Given the description of an element on the screen output the (x, y) to click on. 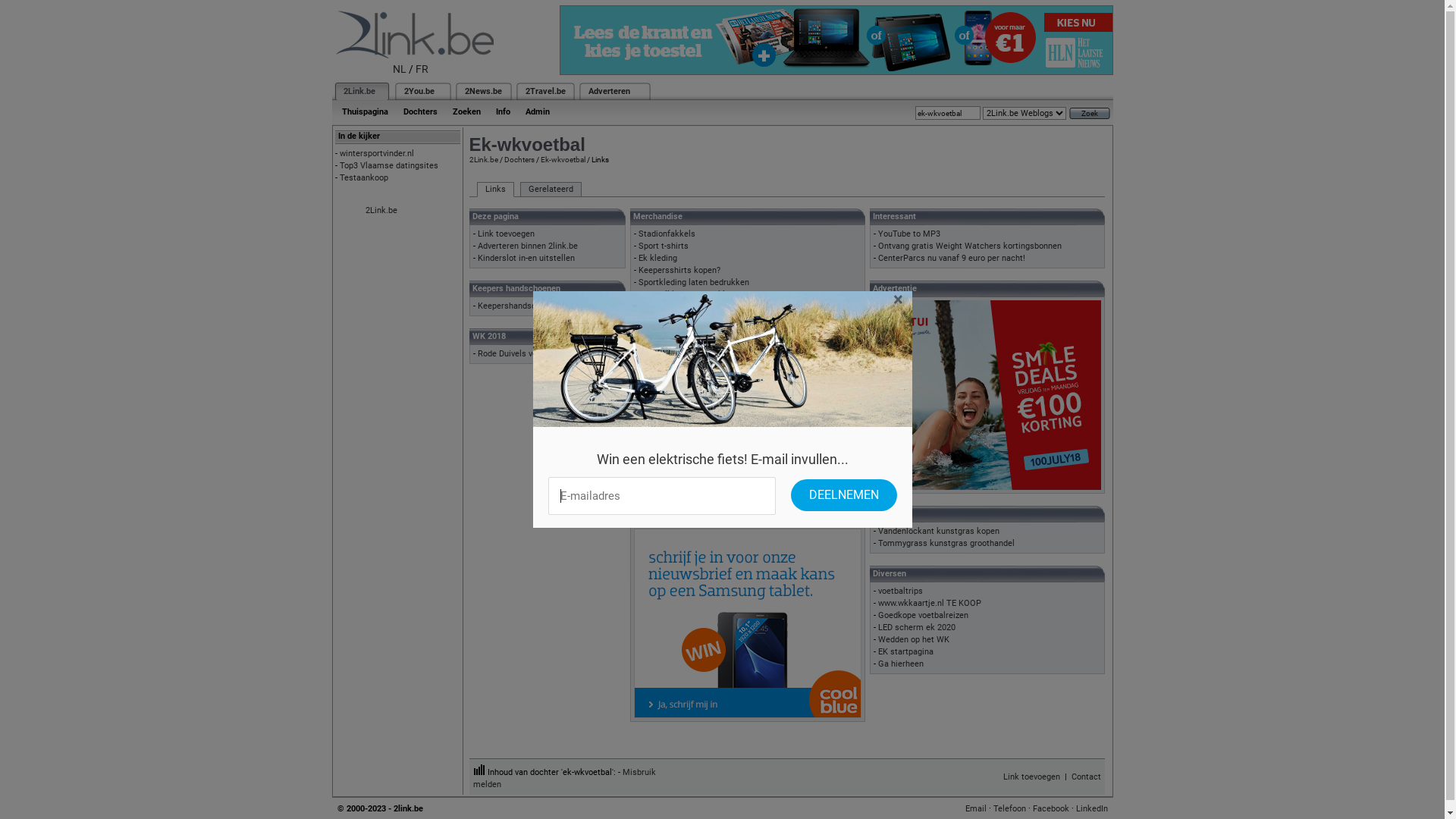
2News.be Element type: text (482, 91)
Gerelateerd Element type: text (550, 189)
Ek kleding Element type: text (657, 258)
EK startpagina Element type: text (905, 651)
Adverteren Element type: text (609, 91)
2Link.be Element type: text (482, 159)
Tommygrass kunstgras groothandel Element type: text (946, 543)
Admin Element type: text (536, 111)
Ontvang gratis Weight Watchers kortingsbonnen Element type: text (969, 246)
wintersportvinder.nl Element type: text (376, 153)
Wedden op het WK Element type: text (913, 639)
Keepersshirts kopen? Element type: text (679, 270)
Nike voetbalschoenen Element type: text (679, 390)
2Link.be Element type: text (358, 91)
sportkleding bedrukken Element type: text (682, 318)
Top3 Vlaamse datingsites Element type: text (388, 165)
2You.be Element type: text (418, 91)
Testaankoop Element type: text (363, 177)
voetbalshirts Element type: text (662, 378)
YouTube to MP3 Element type: text (909, 233)
LinkedIn Element type: text (1091, 808)
Voetbalkleding bedrukken Element type: text (687, 294)
voetbaltenue Element type: text (662, 366)
Ek-wkvoetbal Element type: text (561, 159)
2Link.be Element type: text (381, 210)
Info Element type: text (502, 111)
2Travel.be Element type: text (544, 91)
FR Element type: text (421, 68)
Goedkope voetbalreizen Element type: text (923, 615)
Caps bedrukken Element type: text (668, 306)
Sport t-shirts Element type: text (663, 246)
Dochters Element type: text (420, 111)
Email Element type: text (974, 808)
Keepershandschoenen kopen Element type: text (532, 305)
Ga hierheen Element type: text (900, 663)
Contact Element type: text (1085, 776)
Misbruik melden Element type: text (564, 778)
Thuispagina Element type: text (364, 111)
Facebook Element type: text (1050, 808)
voetbaltrips Element type: text (900, 591)
Telefoon Element type: text (1009, 808)
NL Element type: text (399, 68)
Dochters Element type: text (518, 159)
LED scherm ek 2020 Element type: text (916, 627)
Zoeken Element type: text (465, 111)
Sportbeeldjes | bronzenbeeldenwinkel Element type: text (709, 486)
Adverteren binnen 2link.be Element type: text (527, 246)
Link toevoegen Element type: text (505, 233)
Stadionfakkels Element type: text (666, 233)
Rode Duivels voetbal Element type: text (516, 353)
Link toevoegen Element type: text (1030, 776)
www.wkkaartje.nl TE KOOP Element type: text (929, 603)
Vandenlockant kunstgras kopen Element type: text (938, 531)
Links Element type: text (494, 189)
CenterParcs nu vanaf 9 euro per nacht! Element type: text (951, 258)
Sportkleding laten bedrukken Element type: text (693, 282)
Zoek Element type: text (1089, 113)
Kinderslot in-en uitstellen Element type: text (525, 258)
Programma PEC Zwolle Element type: text (683, 438)
